Given the description of an element on the screen output the (x, y) to click on. 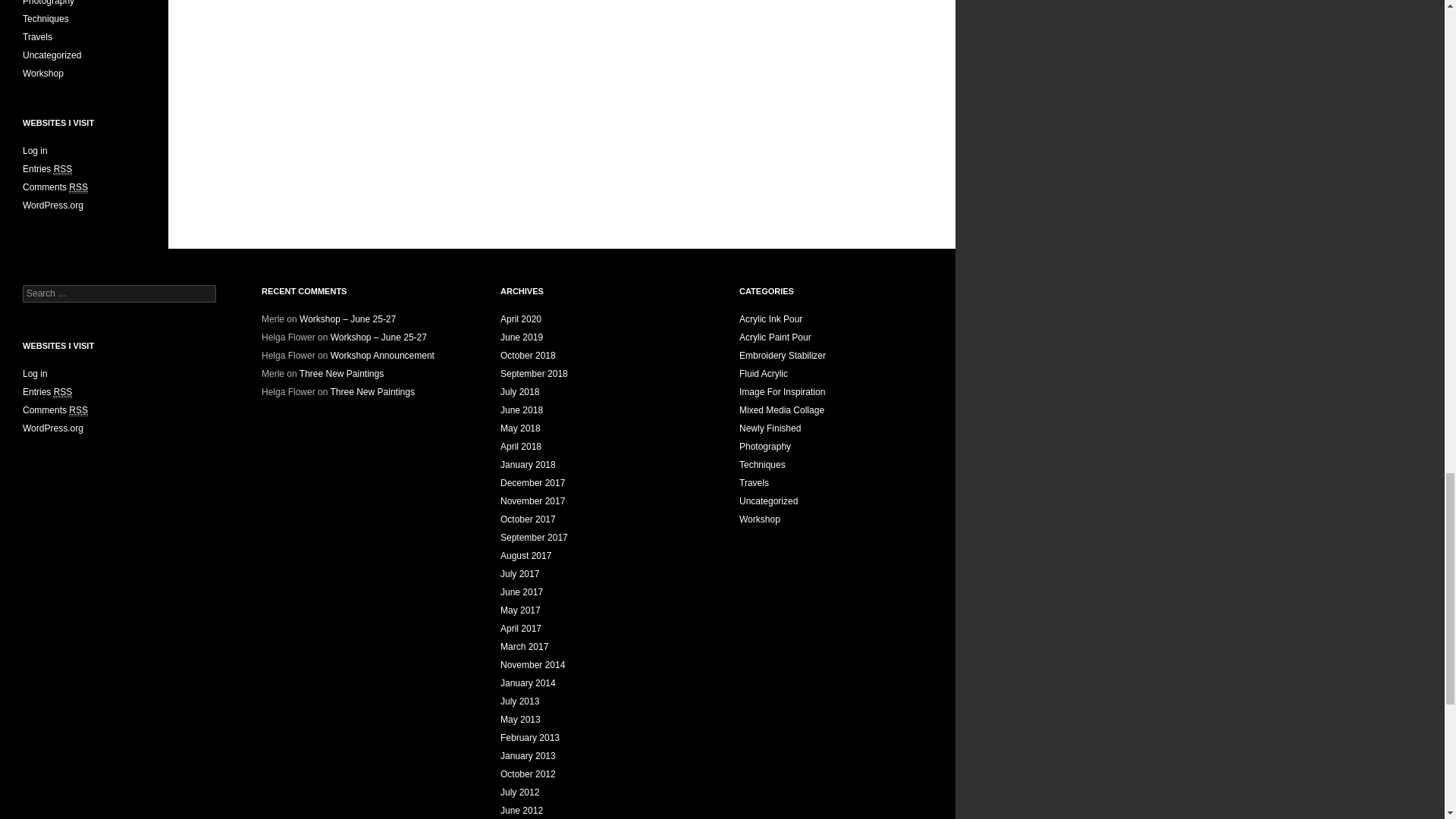
Really Simple Syndication (62, 392)
Really Simple Syndication (77, 187)
Really Simple Syndication (62, 169)
Really Simple Syndication (77, 410)
